Given the description of an element on the screen output the (x, y) to click on. 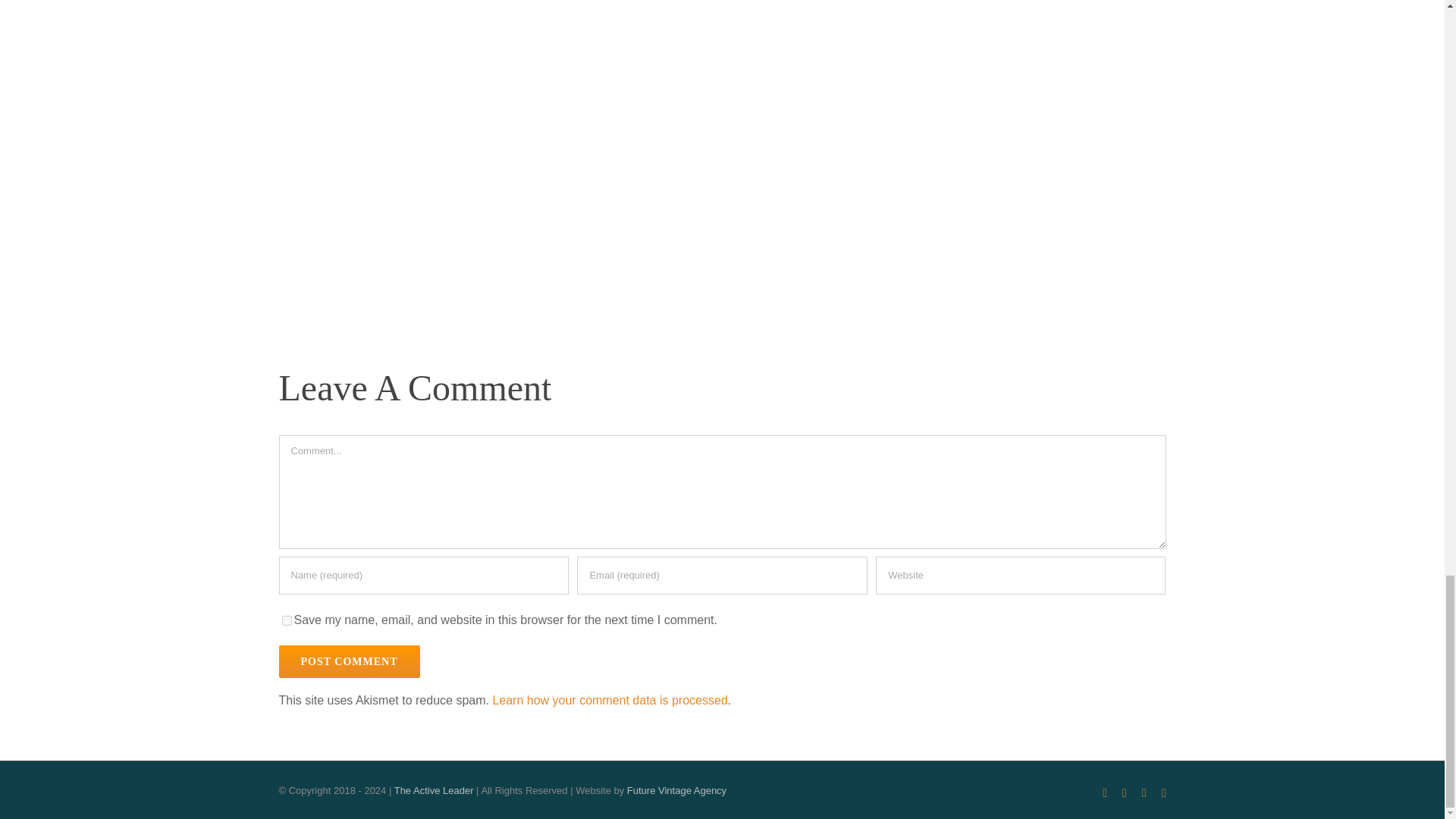
Post Comment (349, 661)
Post Comment (349, 661)
Learn how your comment data is processed (609, 699)
yes (287, 620)
